Given the description of an element on the screen output the (x, y) to click on. 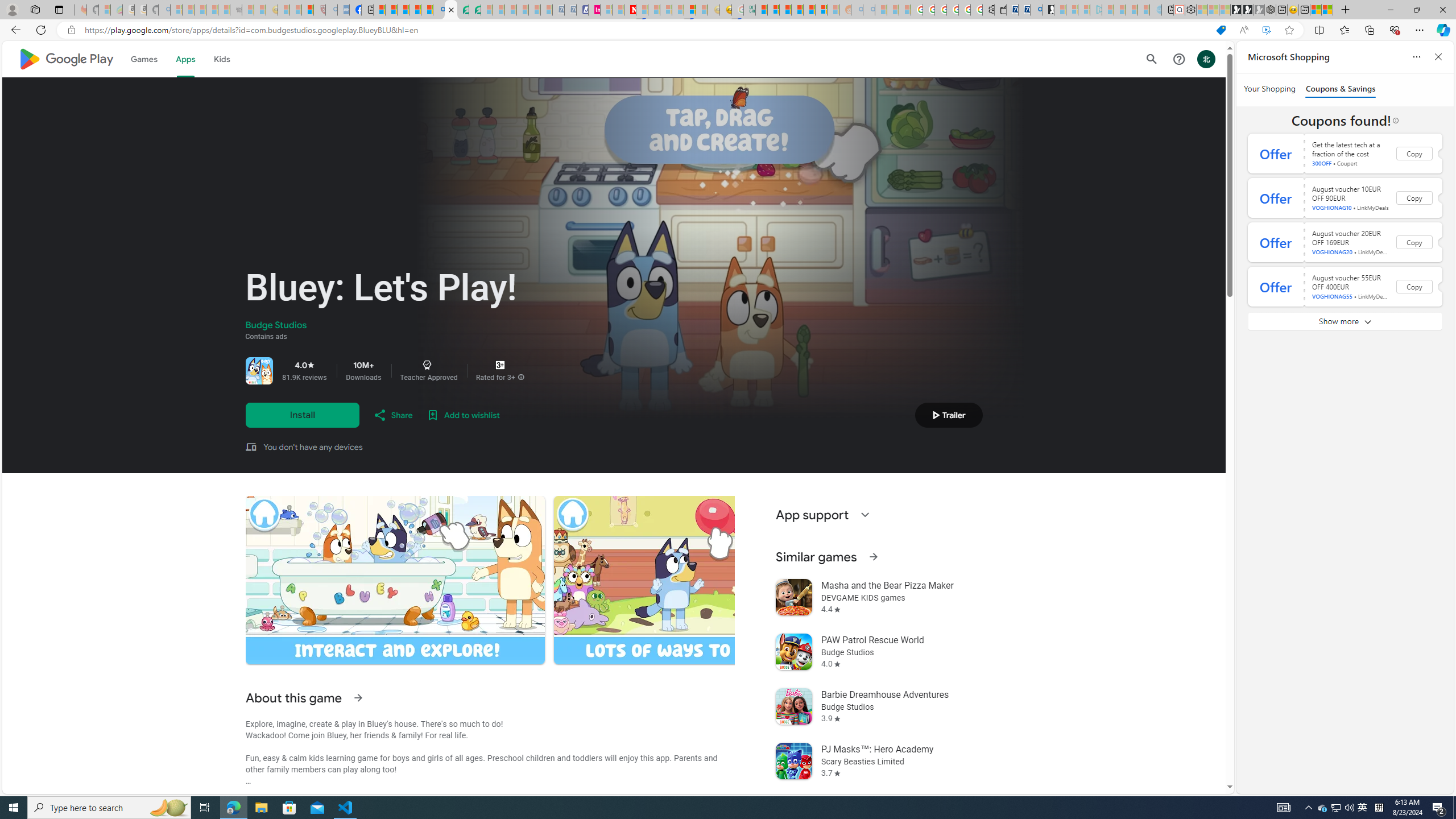
Screenshot image (703, 580)
This site has coupons! Shopping in Microsoft Edge (1220, 29)
Expert Portfolios (797, 9)
Install (301, 414)
Latest Politics News & Archive | Newsweek.com (629, 9)
Recipes - MSN - Sleeping (283, 9)
Wallet (1000, 9)
